Given the description of an element on the screen output the (x, y) to click on. 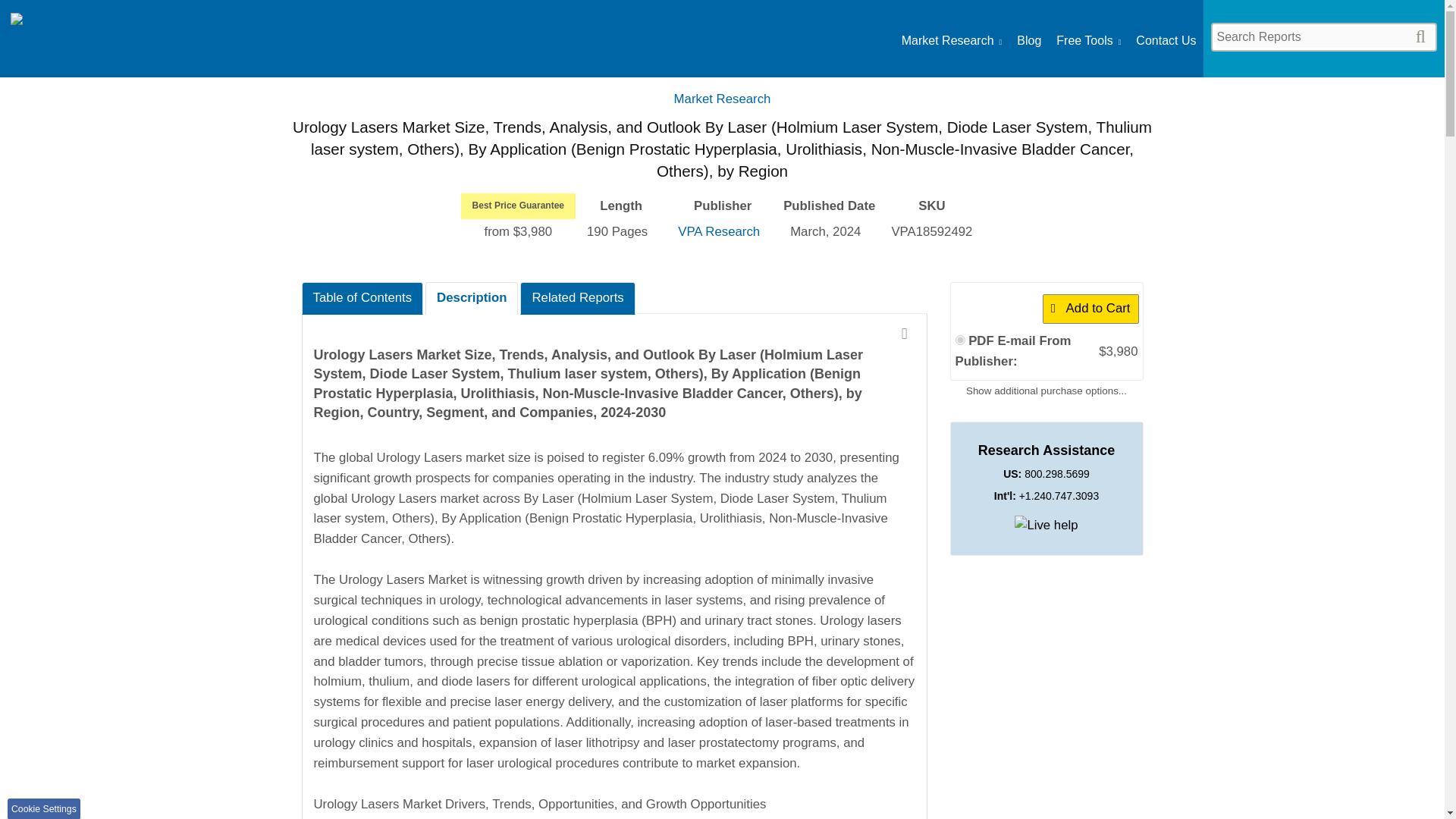
Table of Contents (362, 297)
Stay up-to-date on the latest in market research (1028, 40)
Search for specific text within reports (1323, 36)
Market Research (64, 42)
Free Tools (1089, 40)
Get in touch with MarketResearch.com (1165, 40)
Market Research (722, 98)
Related Reports (576, 297)
Contact Us (1165, 40)
Add to Cart (1090, 308)
Blog (1028, 40)
Browse Market Research Industries (951, 40)
36397682 (960, 339)
Market Research (951, 40)
Learn more about market research with these free tools (1089, 40)
